Given the description of an element on the screen output the (x, y) to click on. 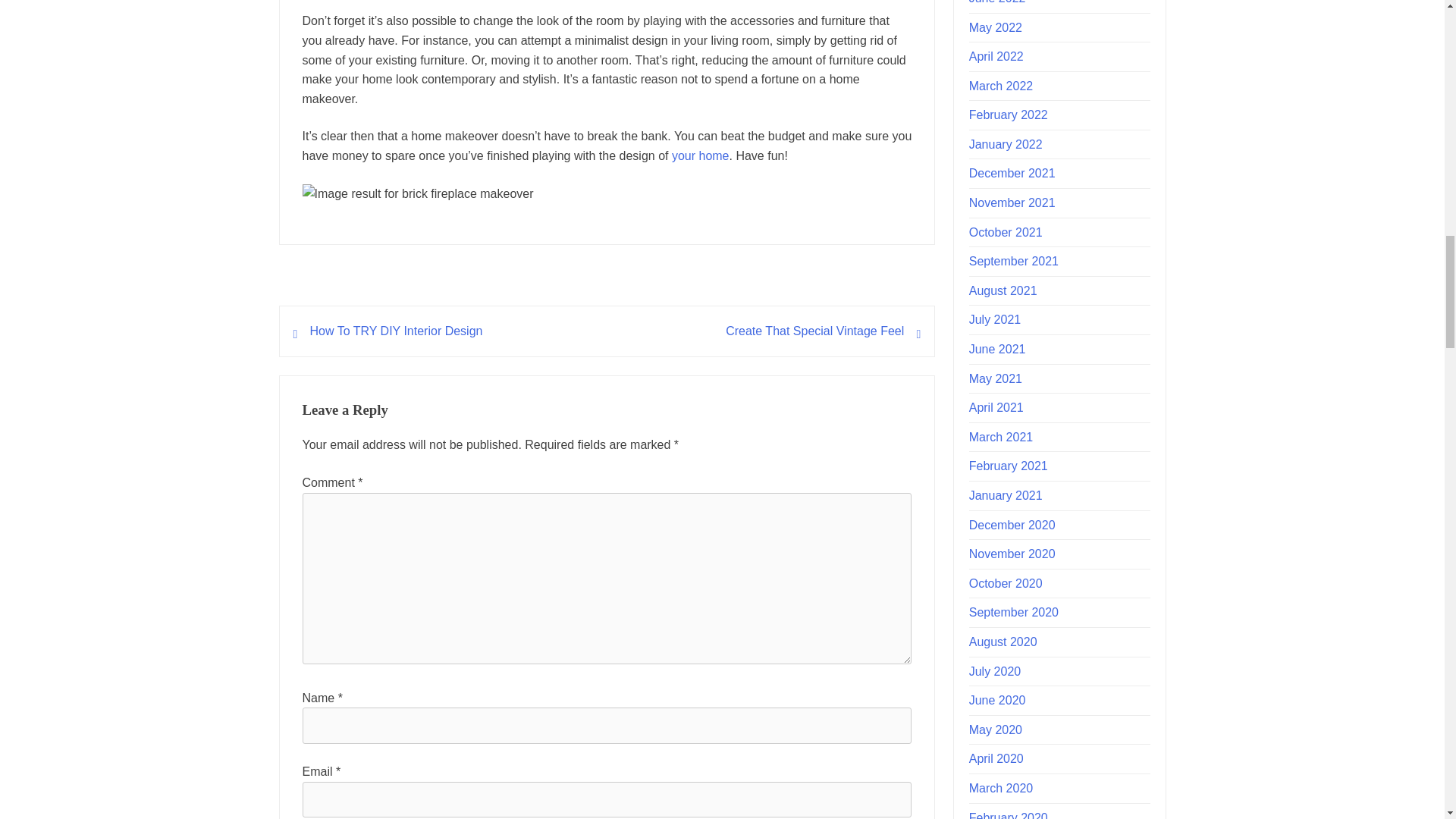
Create That Special Vintage Feel (814, 330)
your home (700, 155)
How To TRY DIY Interior Design (394, 330)
